Given the description of an element on the screen output the (x, y) to click on. 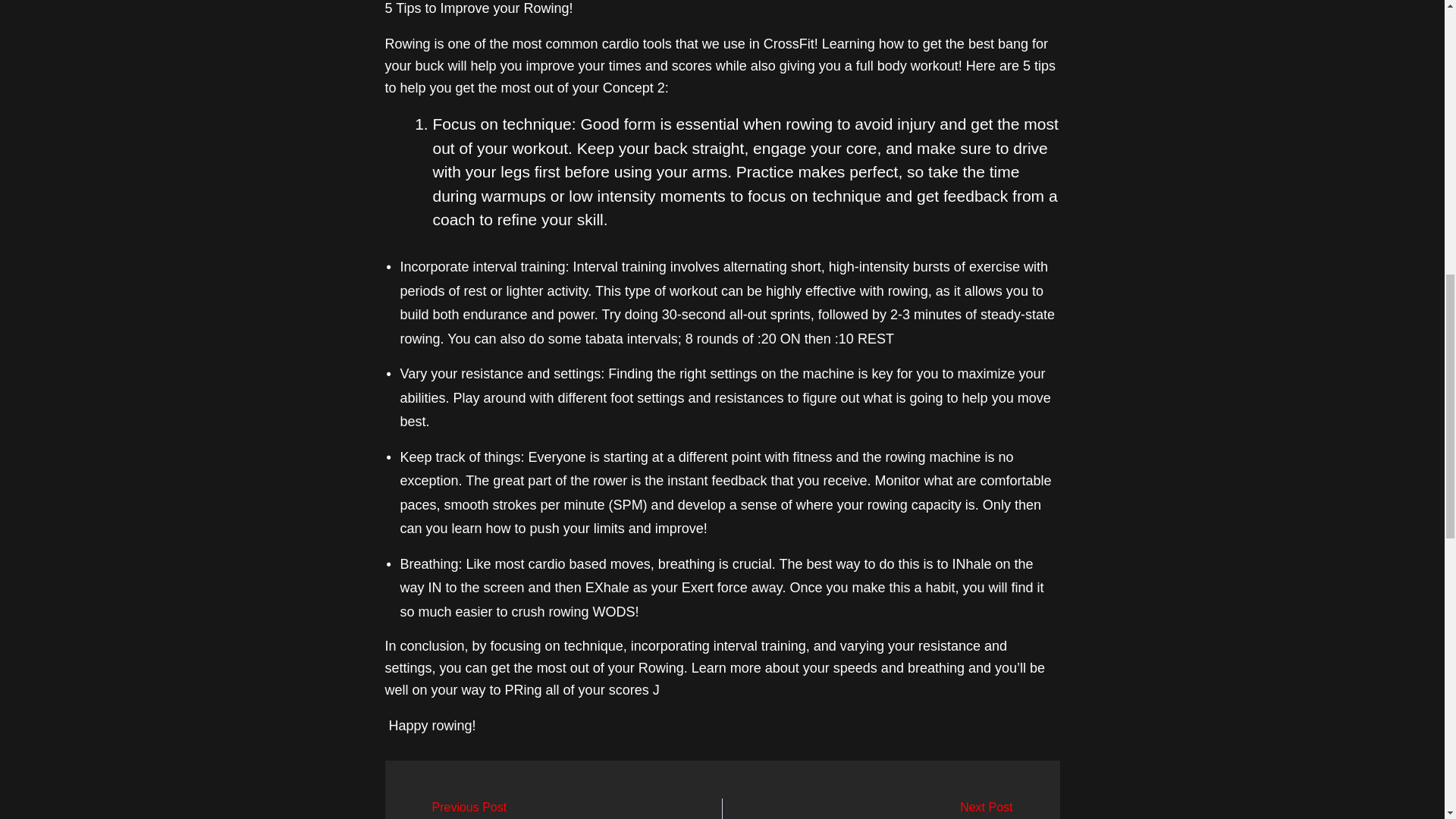
3 Great ways to Prepare for Squats! (895, 809)
